Given the description of an element on the screen output the (x, y) to click on. 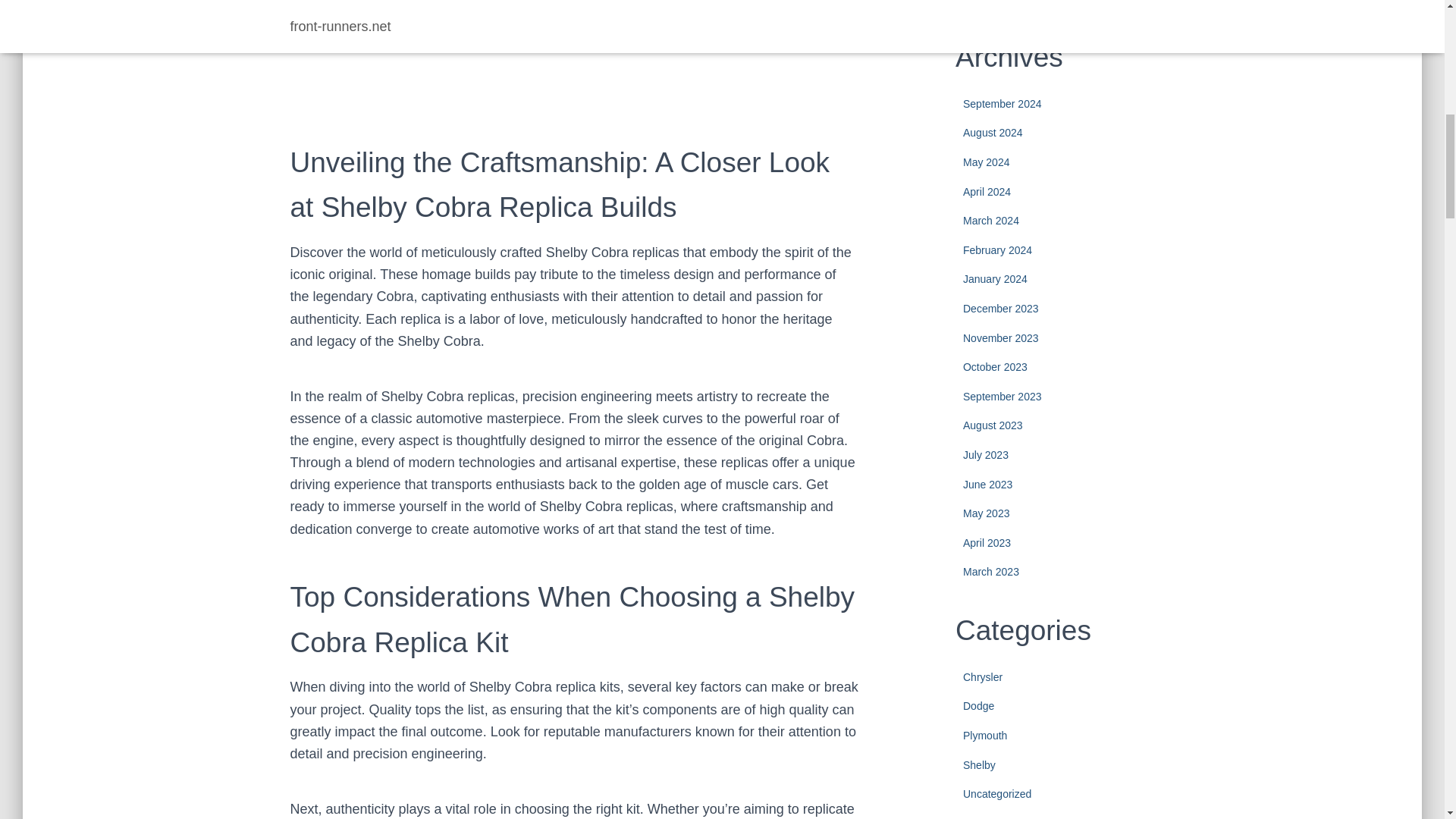
May 2024 (985, 162)
August 2024 (992, 132)
February 2024 (997, 250)
Hello world! (1066, 4)
April 2024 (986, 191)
March 2024 (990, 220)
Closing Remarks (371, 38)
January 2024 (994, 278)
September 2024 (1002, 103)
